Given the description of an element on the screen output the (x, y) to click on. 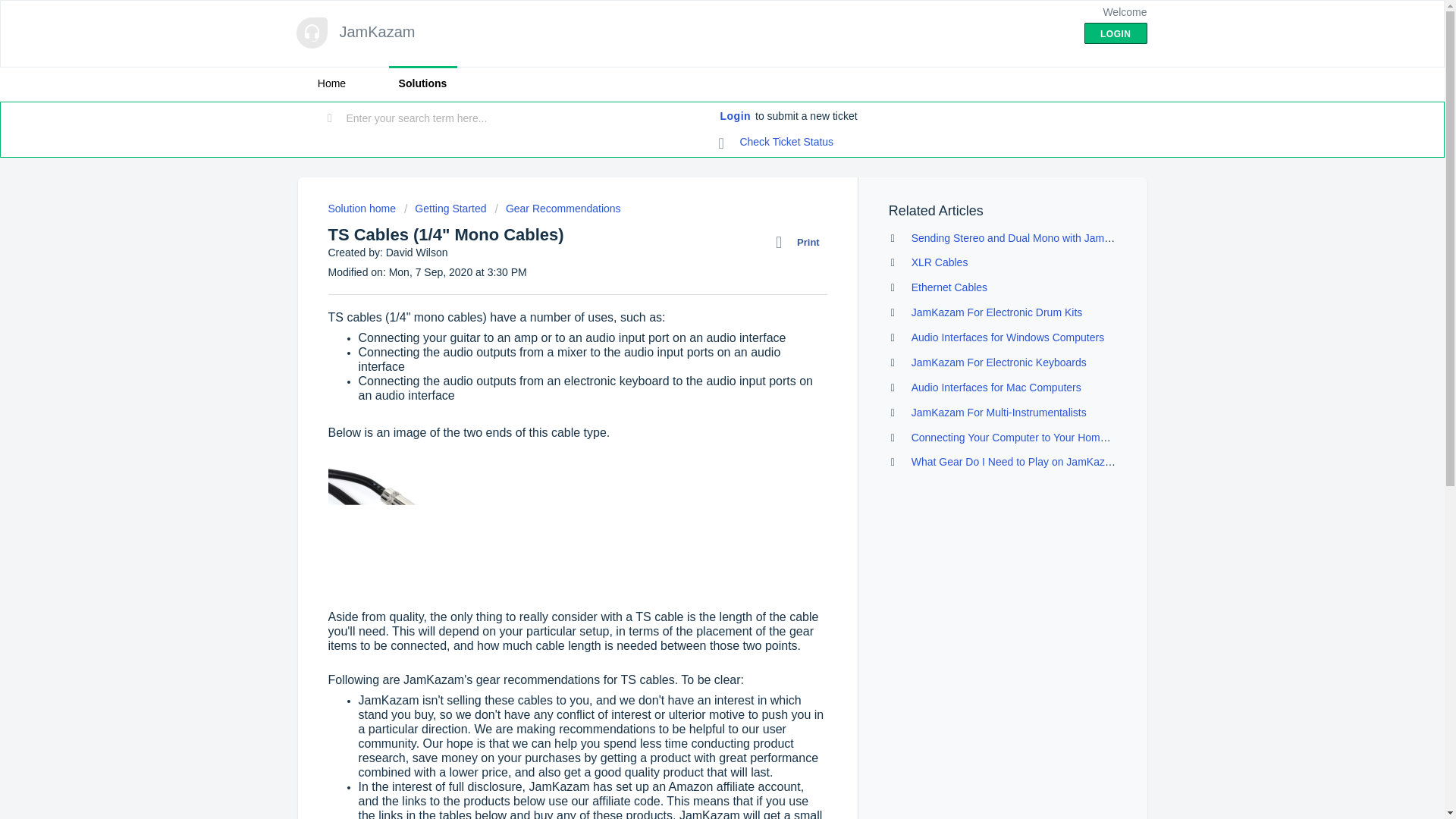
Solution home (362, 208)
Print (801, 242)
LOGIN (1115, 33)
XLR Cables (939, 262)
Login (735, 116)
Getting Started (445, 208)
Solutions (422, 83)
Print this Article (801, 242)
Audio Interfaces for Windows Computers (1007, 337)
